Given the description of an element on the screen output the (x, y) to click on. 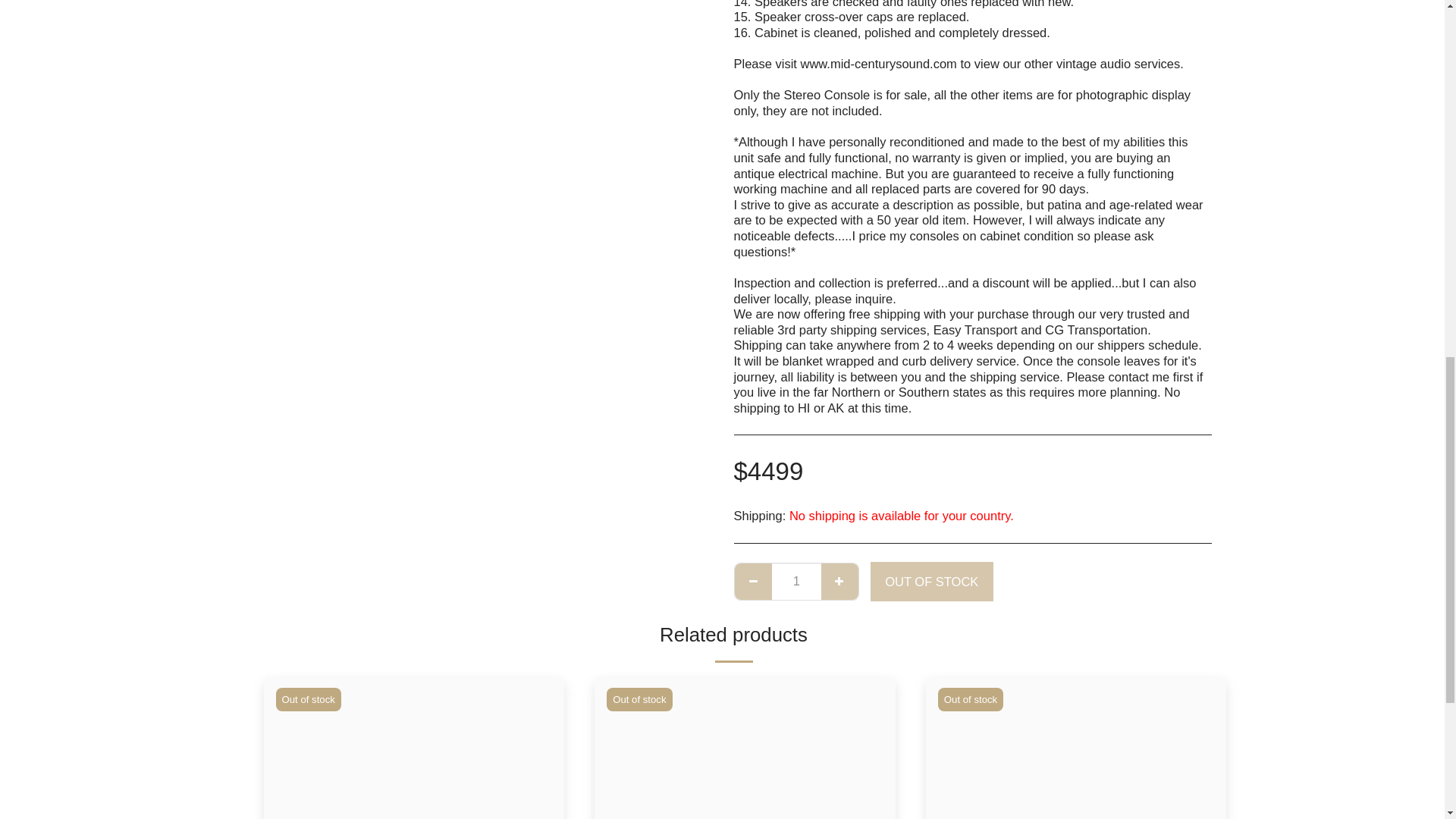
OUT OF STOCK (931, 581)
This product is out of stock. (796, 581)
1 (796, 581)
